Given the description of an element on the screen output the (x, y) to click on. 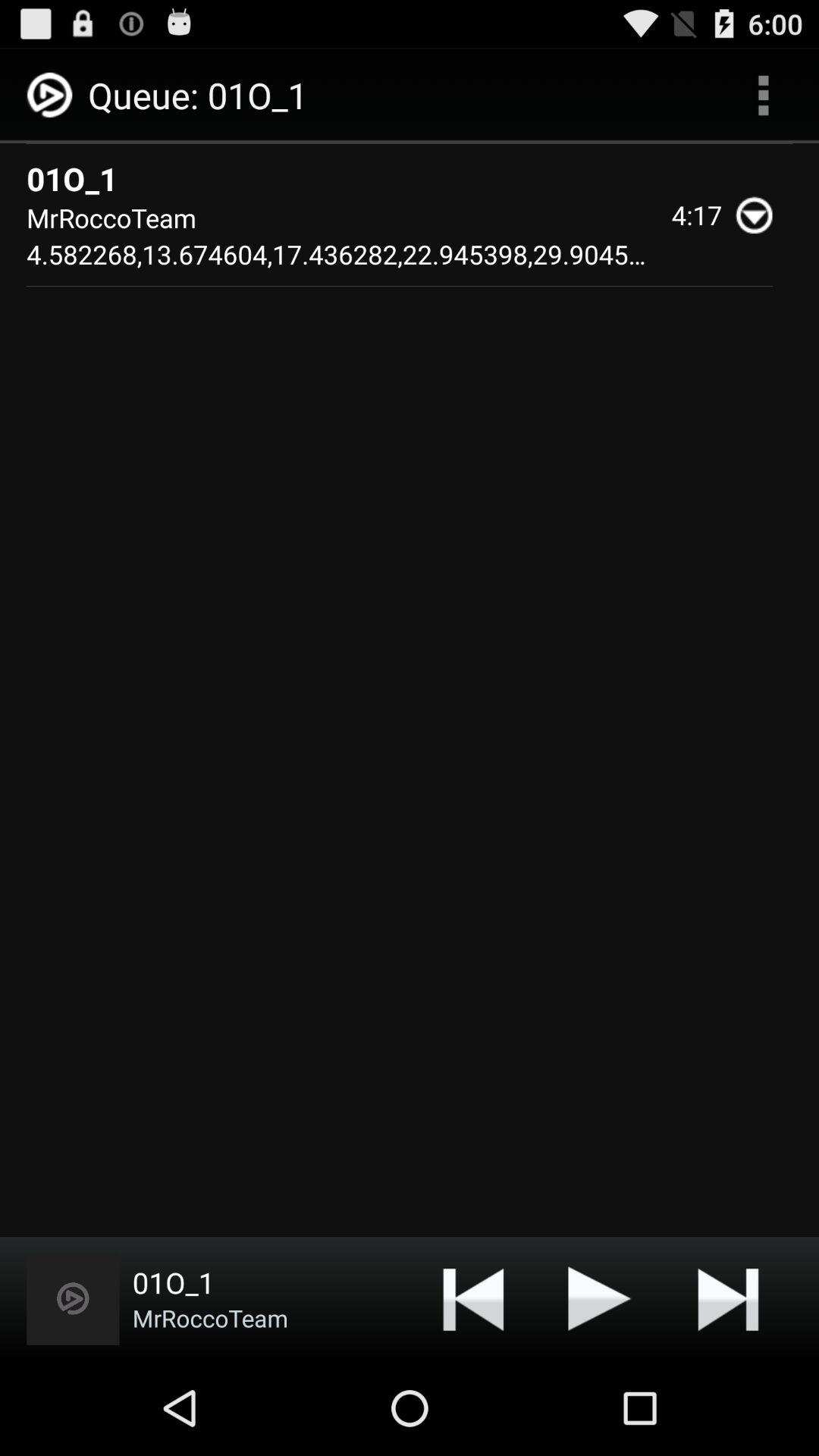
go to next (728, 1298)
